Given the description of an element on the screen output the (x, y) to click on. 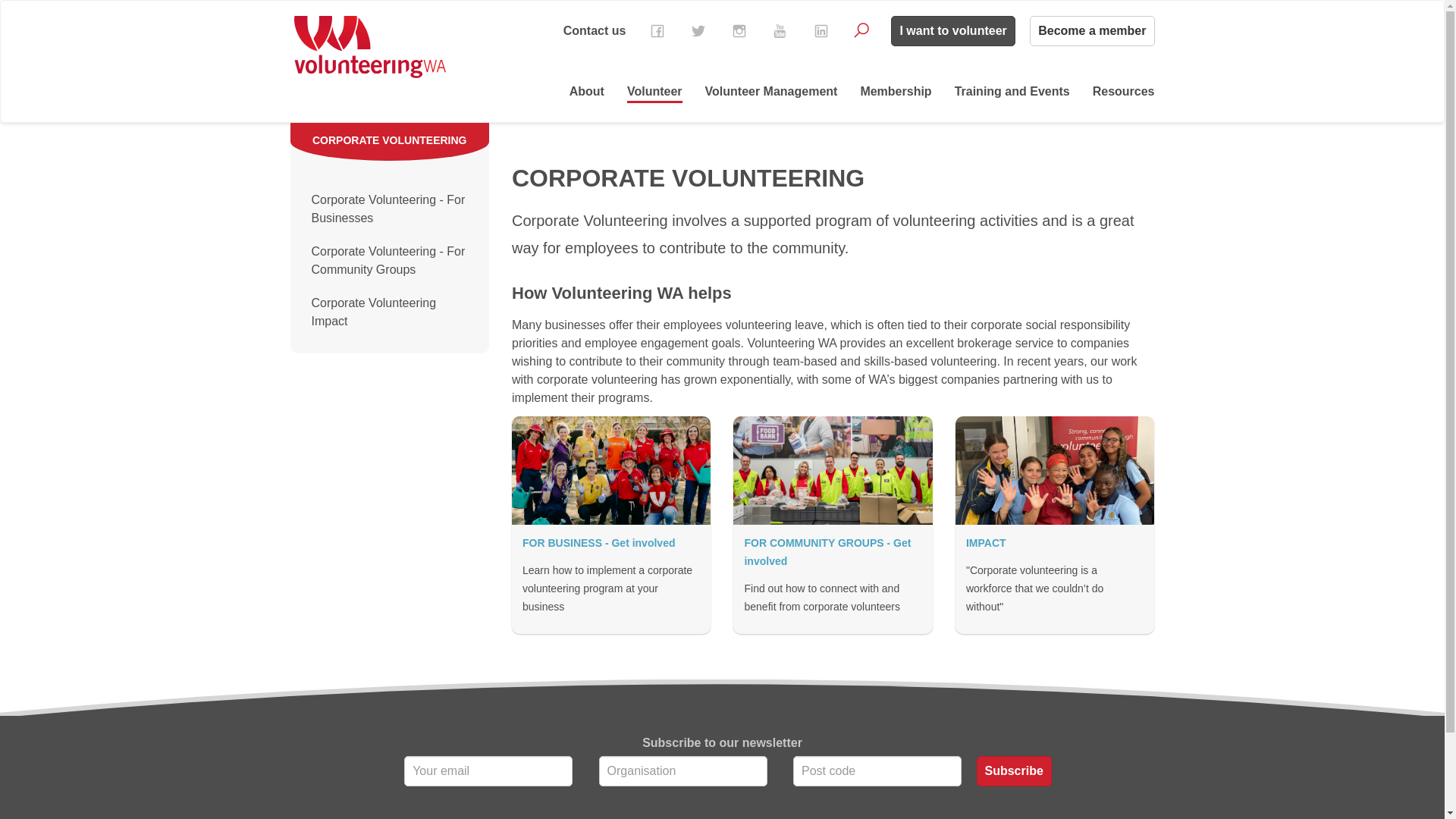
Membership Element type: text (895, 91)
FOR COMMUNITY GROUPS - Get involved Element type: text (826, 551)
FOR BUSINESS - Get involved Element type: text (598, 542)
I want to volunteer Element type: text (952, 30)
Resources Element type: text (1123, 91)
Search Element type: text (861, 29)
Facebook Element type: text (657, 30)
Become a member Element type: text (1091, 30)
Subscribe Element type: text (1013, 771)
Contact us Element type: text (594, 30)
Corporate Volunteering - For Businesses Element type: text (389, 209)
LinkedIn Element type: text (820, 30)
Instagram Element type: text (738, 30)
Corporate Volunteering Impact Element type: text (389, 312)
Training and Events Element type: text (1012, 91)
Volunteer Management Element type: text (771, 91)
About Element type: text (586, 91)
Twitter Element type: text (697, 30)
Volunteer Element type: text (654, 91)
YouTube Element type: text (779, 30)
IMPACT Element type: text (986, 542)
Corporate Volunteering - For Community Groups Element type: text (389, 260)
